Given the description of an element on the screen output the (x, y) to click on. 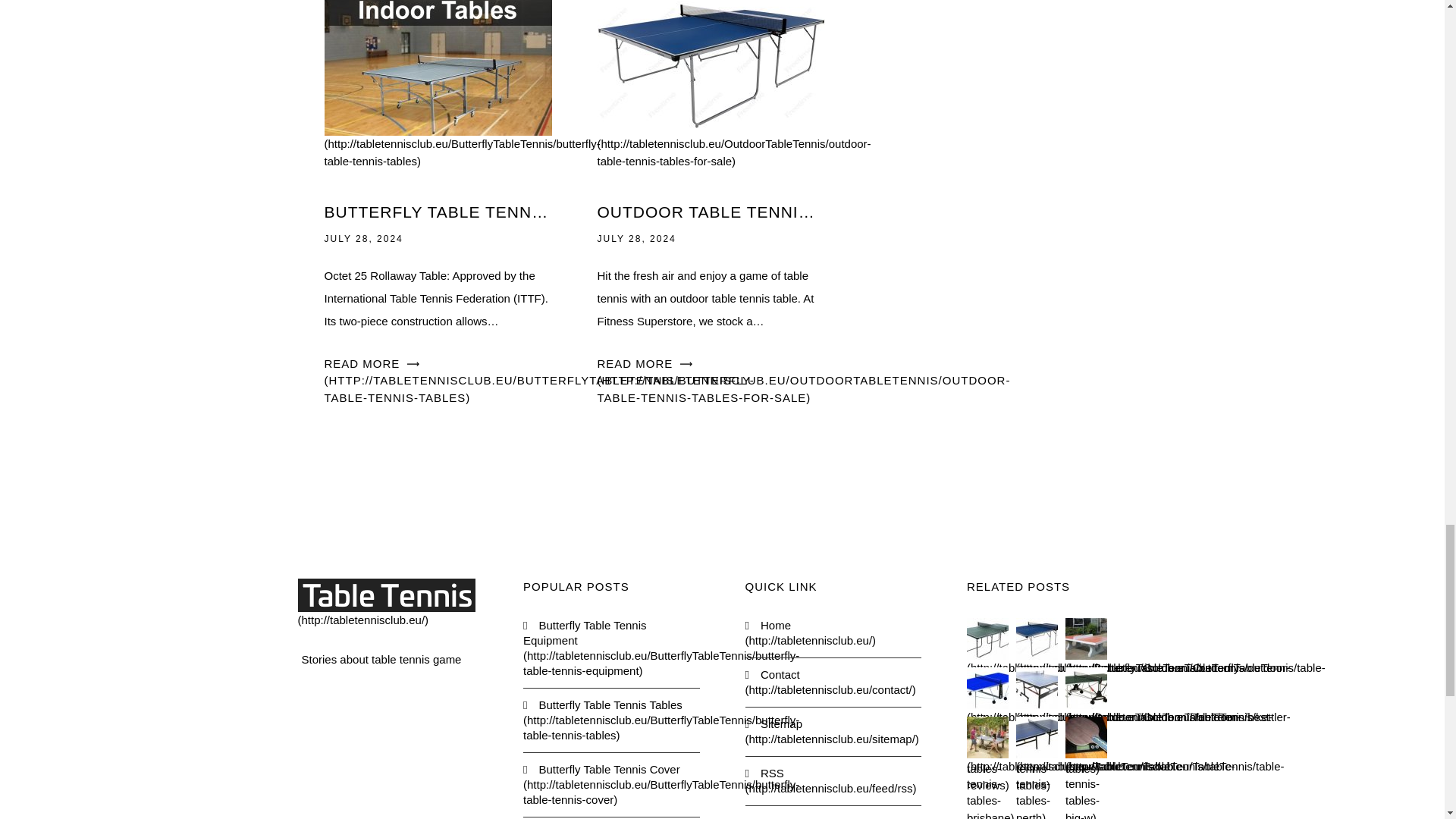
Outdoor Table Tennis Tables for Sale (733, 112)
Butterfly Table Tennis Tables (461, 112)
OUTDOOR TABLE TENNIS TABLES FOR SALE (710, 211)
READ MORE (803, 380)
BUTTERFLY TABLE TENNIS TABLES (437, 211)
READ MORE (539, 380)
